Given the description of an element on the screen output the (x, y) to click on. 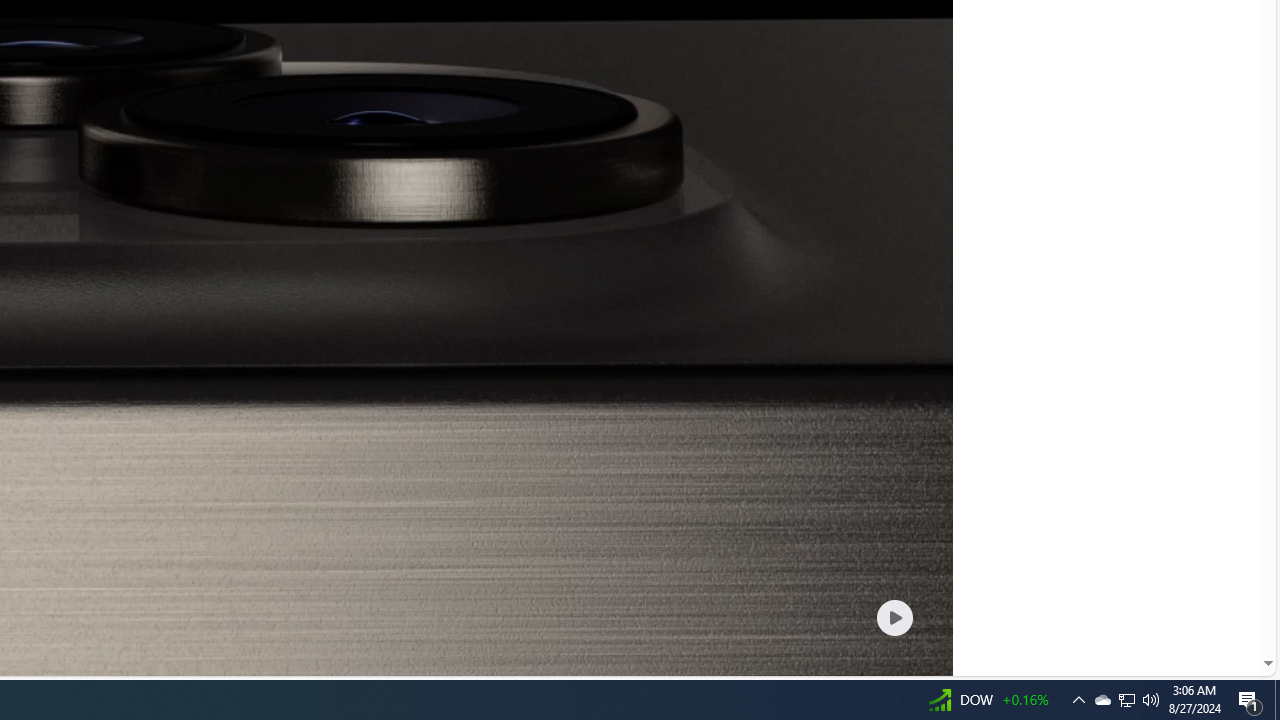
Play welcome animation video (893, 617)
Class: control-centered-small-icon (894, 617)
